Given the description of an element on the screen output the (x, y) to click on. 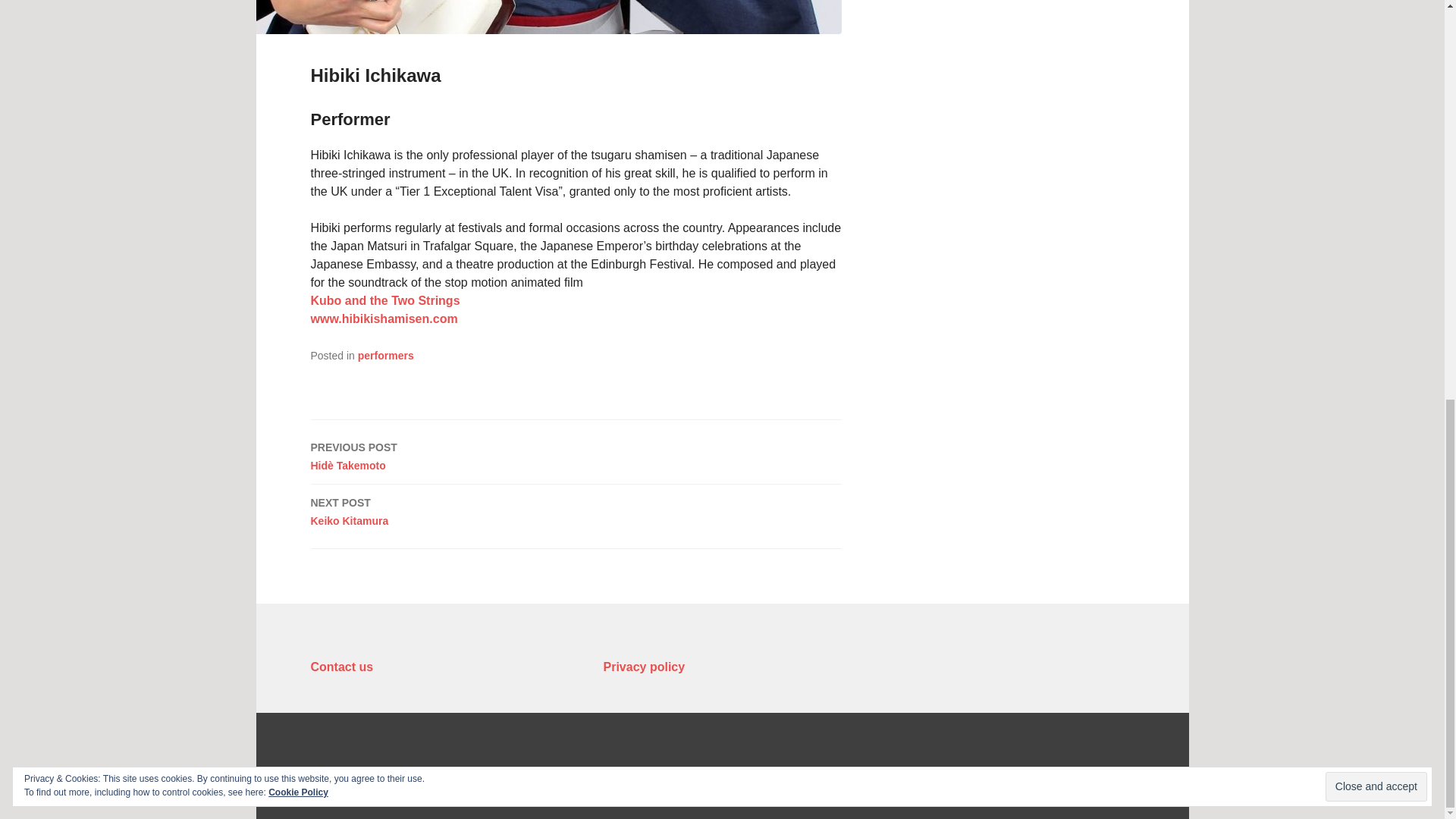
Contact us (576, 506)
performers (342, 666)
www.hibikishamisen.com (385, 355)
Cookie Policy (384, 318)
Privacy policy (298, 12)
Close and accept (644, 666)
Kubo and the Two Strings (1375, 11)
Close and accept (385, 300)
